Given the description of an element on the screen output the (x, y) to click on. 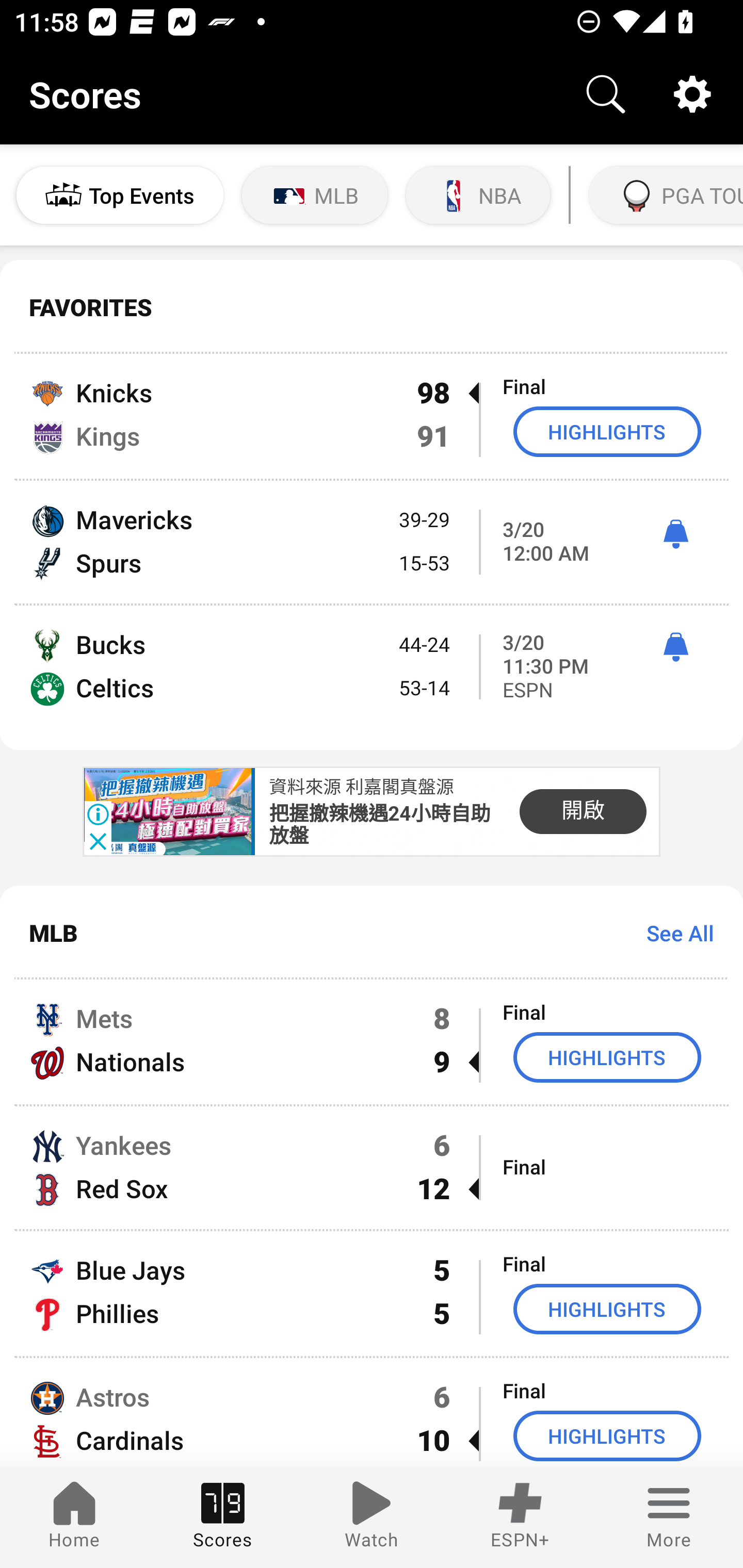
Search (605, 93)
Settings (692, 93)
 Top Events (119, 194)
MLB (314, 194)
NBA (477, 194)
PGA TOUR (664, 194)
FAVORITES (371, 307)
Knicks 98  Final Kings 91 HIGHLIGHTS (371, 416)
HIGHLIGHTS (607, 431)
Mavericks 39-29 Spurs 15-53 3/20 12:00 AM ì (371, 542)
ì (675, 534)
Bucks 44-24 Celtics 53-14 3/20 11:30 PM ì ESPN (371, 677)
ì (675, 647)
資料來源 利嘉閣真盤源 (361, 786)
開啟 (582, 811)
把握撤辣機遇24小時自助 放盤 把握撤辣機遇24小時自助 放盤 (379, 825)
MLB See All (371, 932)
See All (673, 932)
Mets 8 Final Nationals 9  HIGHLIGHTS (371, 1041)
HIGHLIGHTS (607, 1056)
Yankees 6 Red Sox 12  Final (371, 1168)
Blue Jays 5 Final Phillies 5 HIGHLIGHTS (371, 1293)
HIGHLIGHTS (607, 1309)
Astros 6 Final Cardinals 10  HIGHLIGHTS (371, 1412)
HIGHLIGHTS (607, 1436)
Home (74, 1517)
Watch (371, 1517)
ESPN+ (519, 1517)
More (668, 1517)
